Given the description of an element on the screen output the (x, y) to click on. 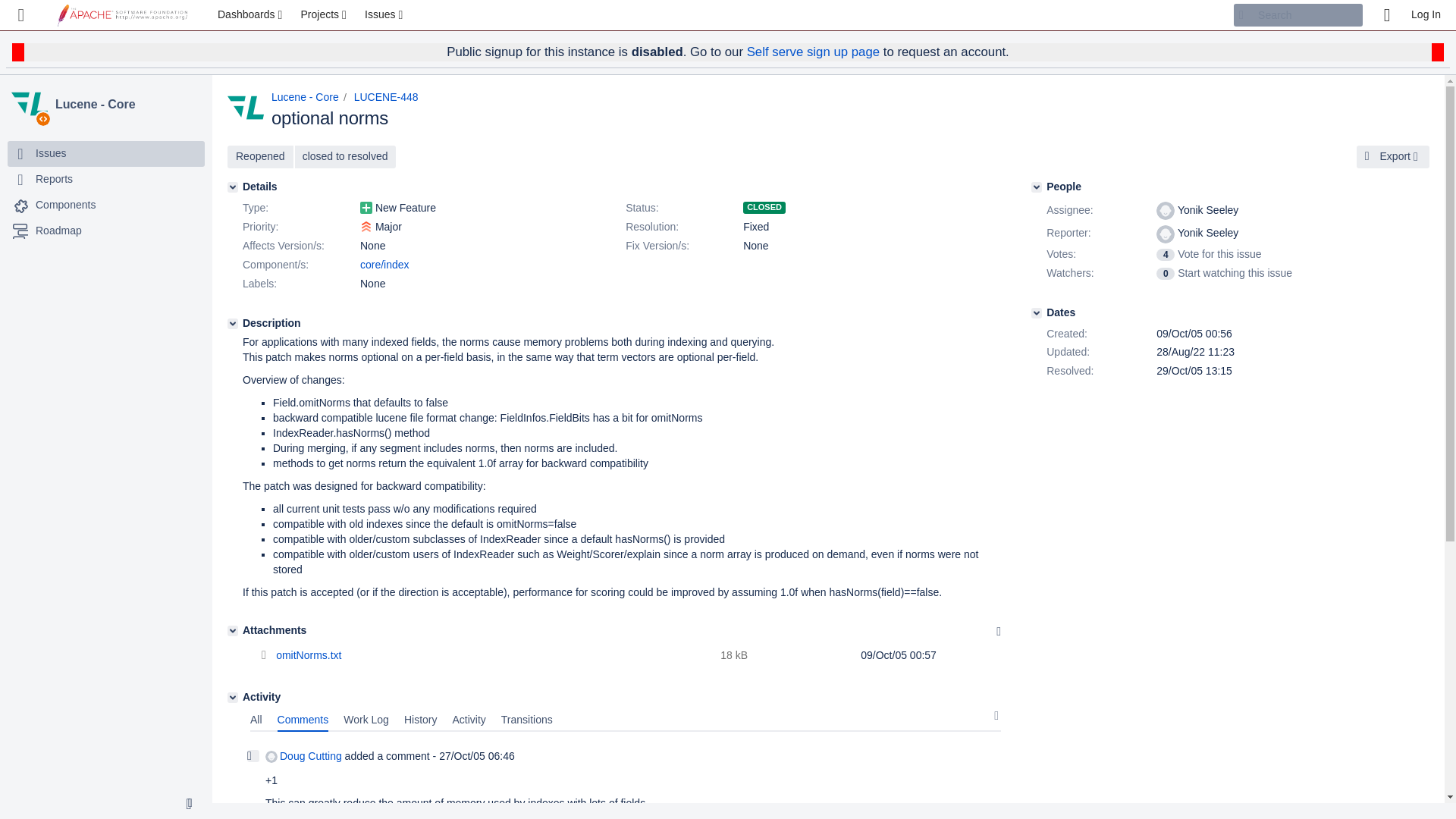
Roadmap (57, 231)
Log In (1425, 15)
Export (1392, 156)
Reopened - Reopened (260, 156)
Self serve sign up page (812, 51)
Lucene - Core (304, 96)
closed to resolved (345, 156)
Roadmap (106, 231)
Help (1386, 15)
Issues (384, 15)
Issues (106, 153)
Dashboards (251, 15)
Projects (324, 15)
Lucene - Core (29, 104)
Components (65, 205)
